Given the description of an element on the screen output the (x, y) to click on. 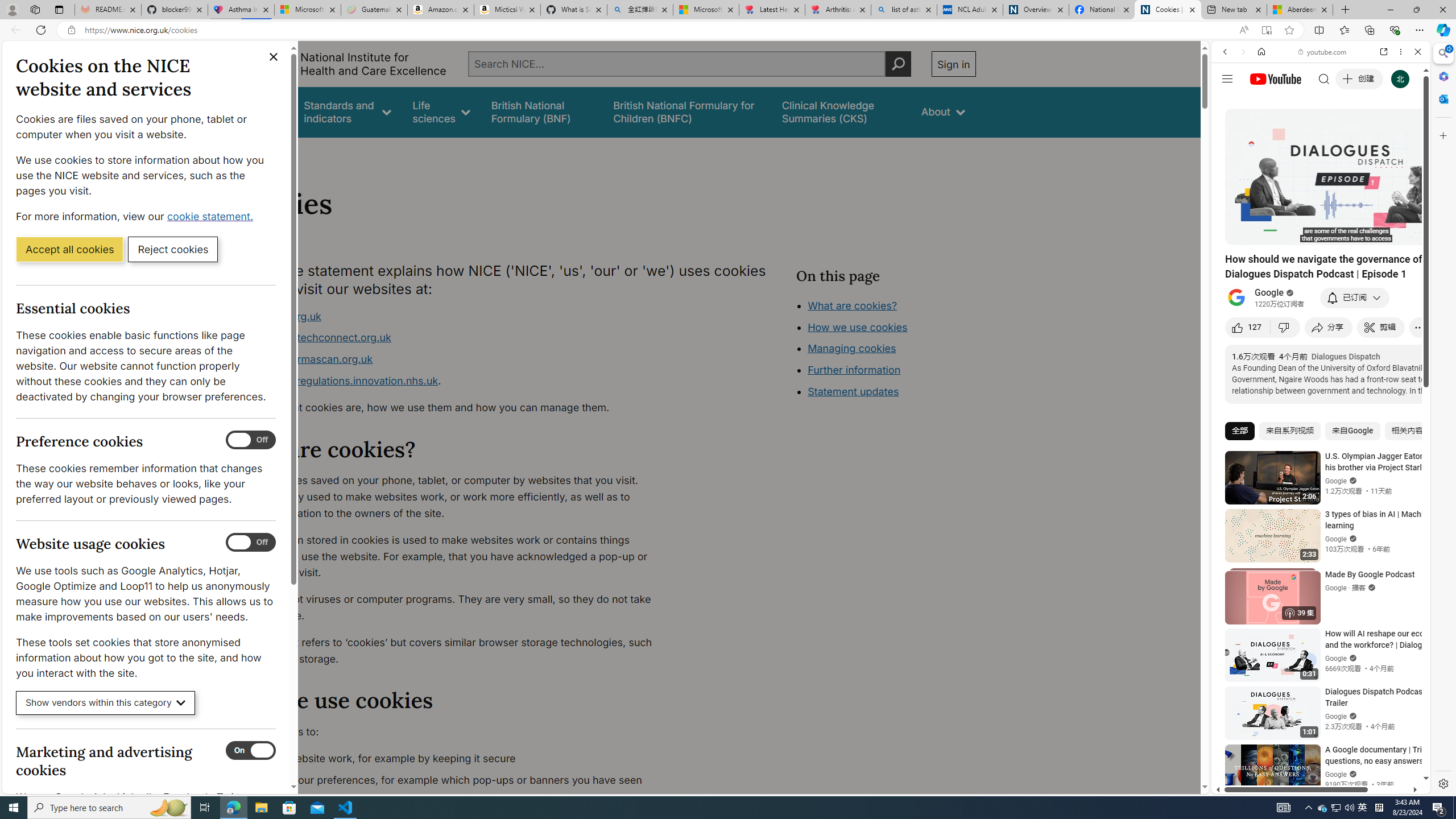
Music (1320, 309)
Trailer #2 [HD] (1320, 337)
Life sciences (440, 111)
you (1315, 755)
Close cookie banner (273, 56)
Further information (854, 369)
